Given the description of an element on the screen output the (x, y) to click on. 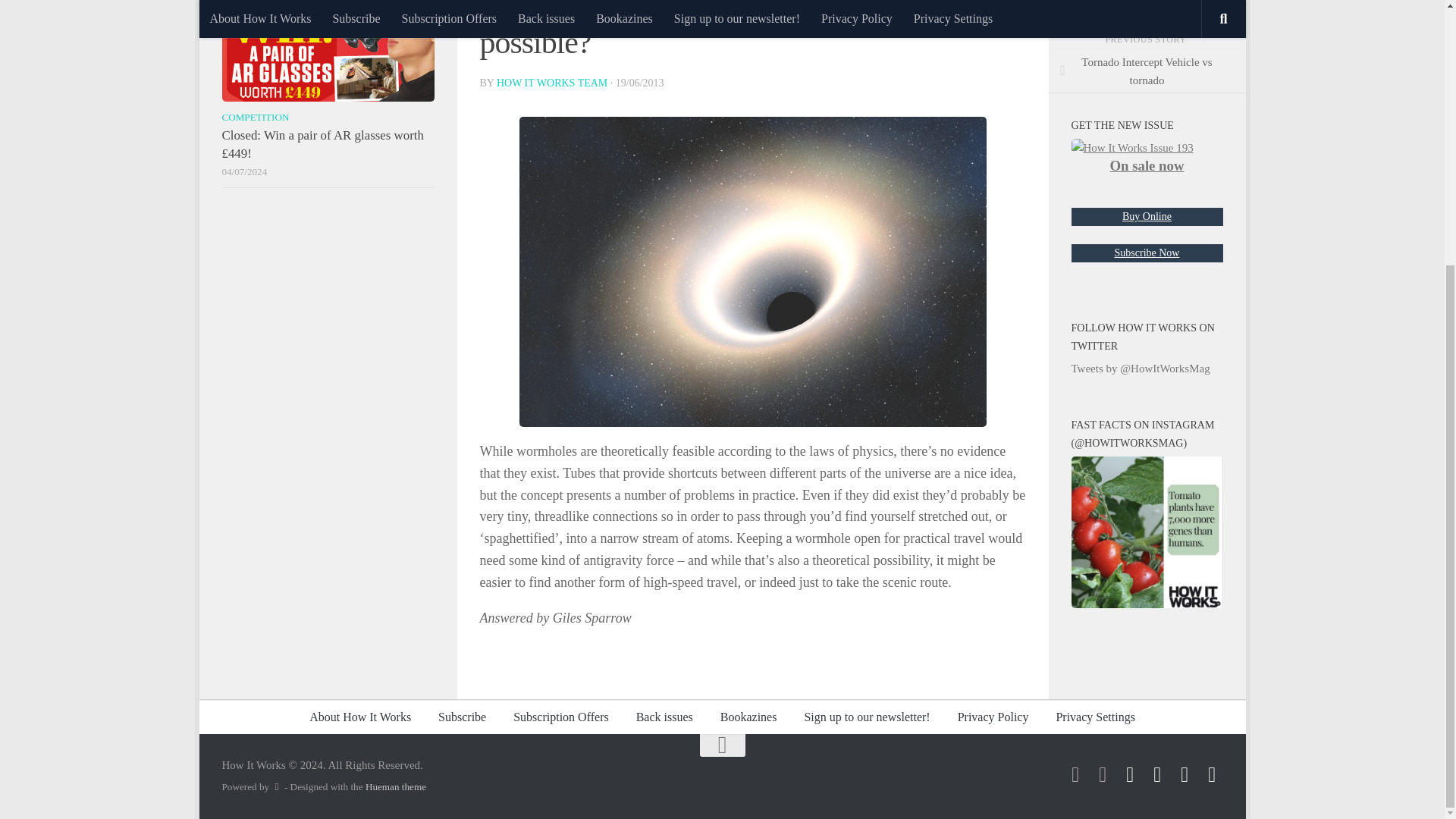
HOW IT WORKS TEAM (551, 82)
Follow us on Tiktok (1075, 774)
Hueman theme (395, 786)
Powered by WordPress (275, 786)
Posts by How It Works Team (551, 82)
